Given the description of an element on the screen output the (x, y) to click on. 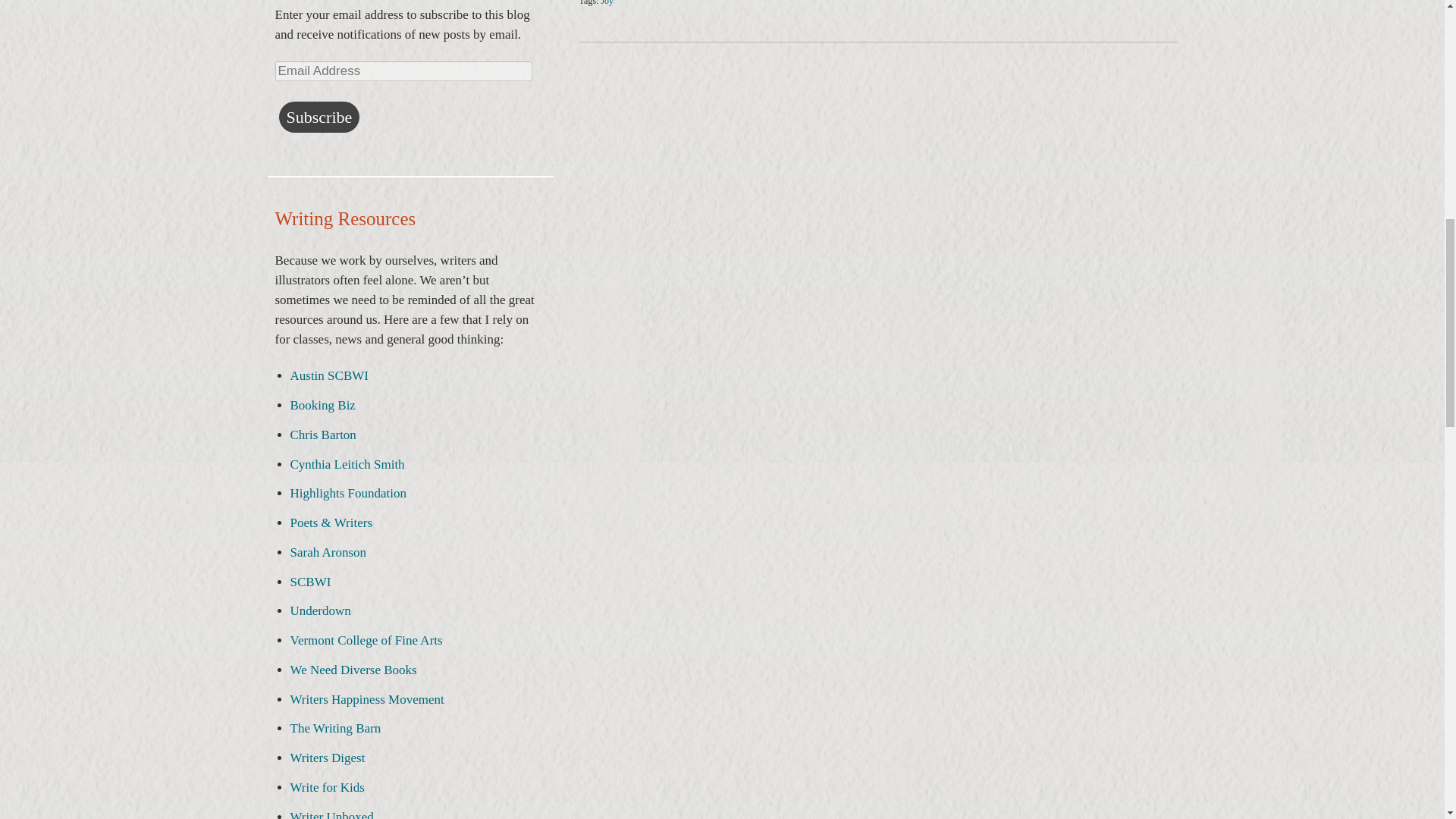
Austin SCBWI (328, 375)
Writers Digest (327, 757)
Writers Happiness Movement (366, 699)
We Need Diverse Books (352, 669)
Cynthia Leitich Smith (346, 464)
Subscribe (319, 116)
Booking Biz (322, 405)
Write for Kids (326, 787)
Writer Unboxed (330, 814)
SCBWI (309, 581)
Highlights Foundation (347, 493)
Sarah Aronson (327, 552)
Chris Barton (322, 434)
Underdown (319, 610)
Joy (605, 2)
